Given the description of an element on the screen output the (x, y) to click on. 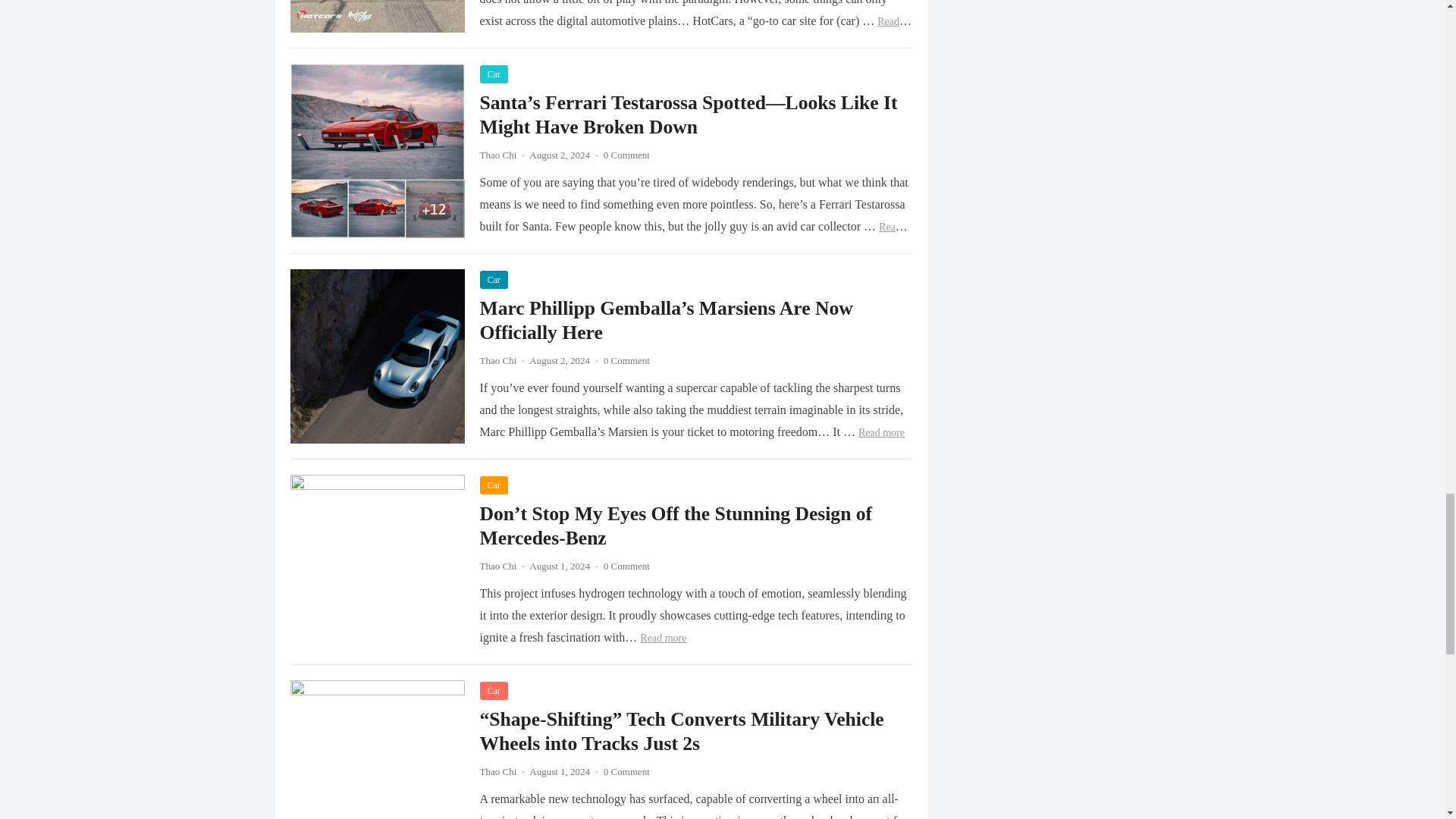
Thao Chi (497, 153)
Read more (695, 31)
Posts by Thao Chi (497, 771)
Car (492, 280)
Read more (693, 237)
Posts by Thao Chi (497, 564)
Car (492, 74)
Posts by Thao Chi (497, 360)
Posts by Thao Chi (497, 153)
Thao Chi (497, 360)
0 Comment (626, 153)
